Given the description of an element on the screen output the (x, y) to click on. 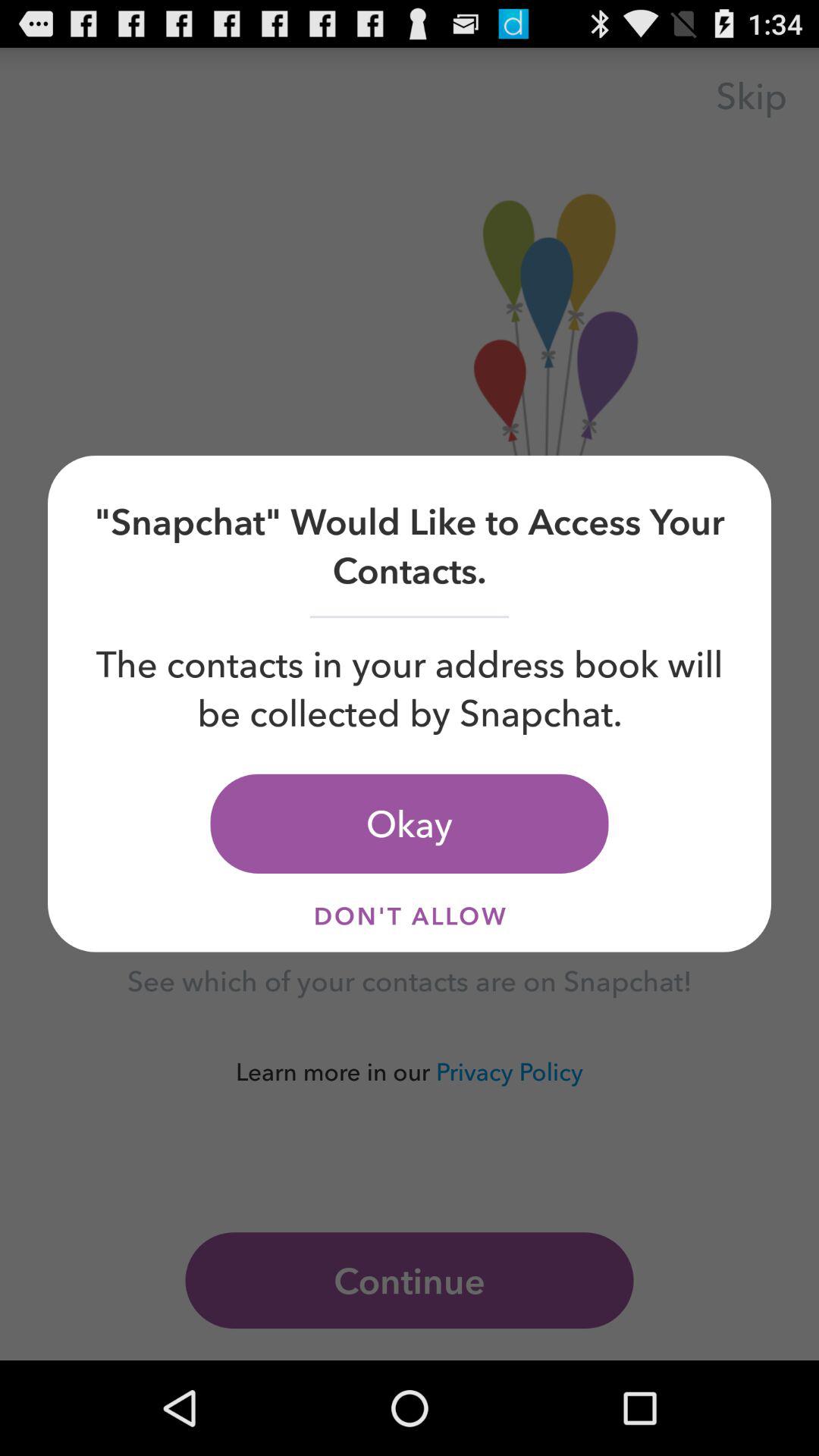
select the icon below the the contacts in (409, 823)
